Given the description of an element on the screen output the (x, y) to click on. 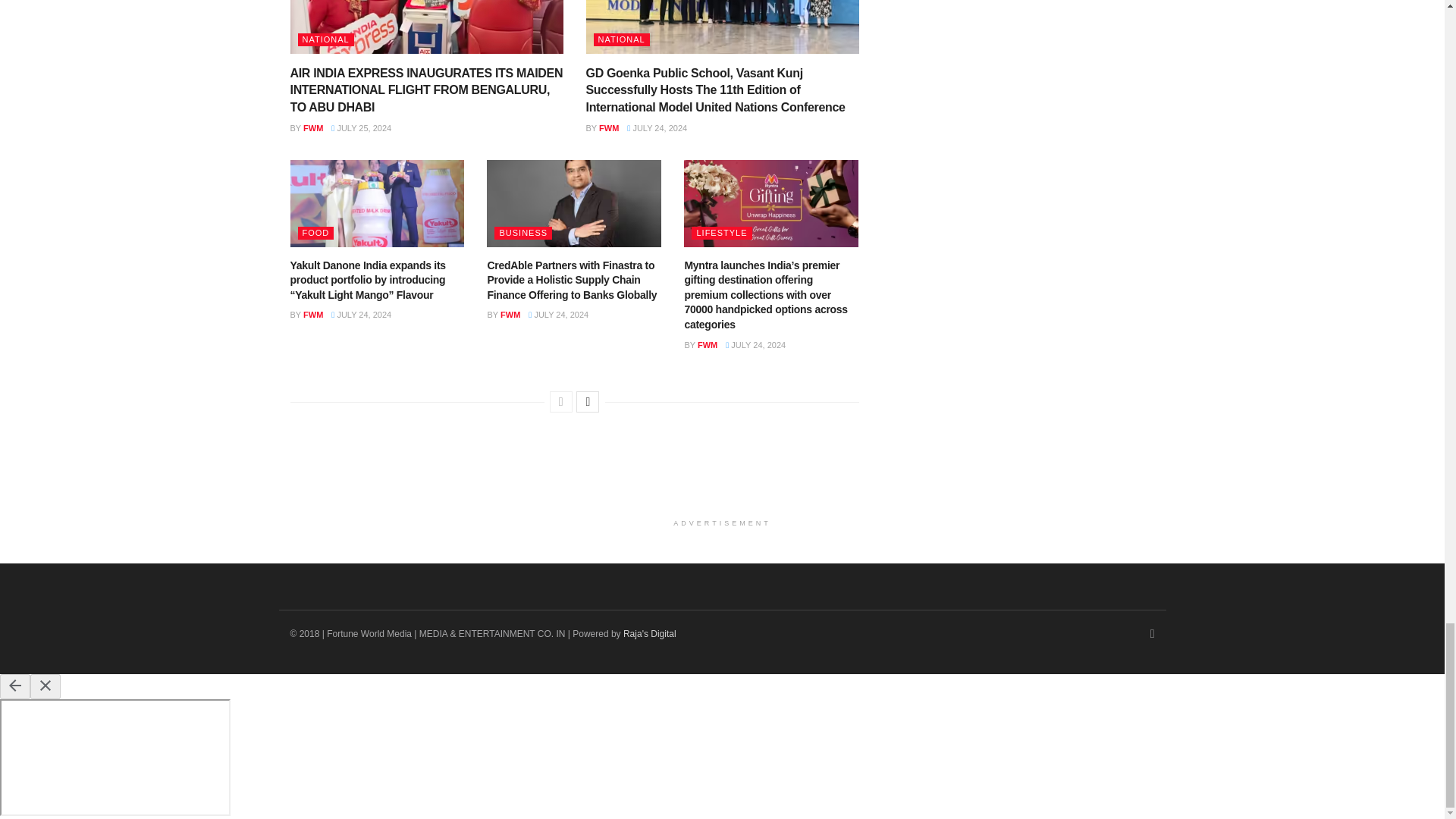
Previous (561, 401)
Next (587, 401)
